Given the description of an element on the screen output the (x, y) to click on. 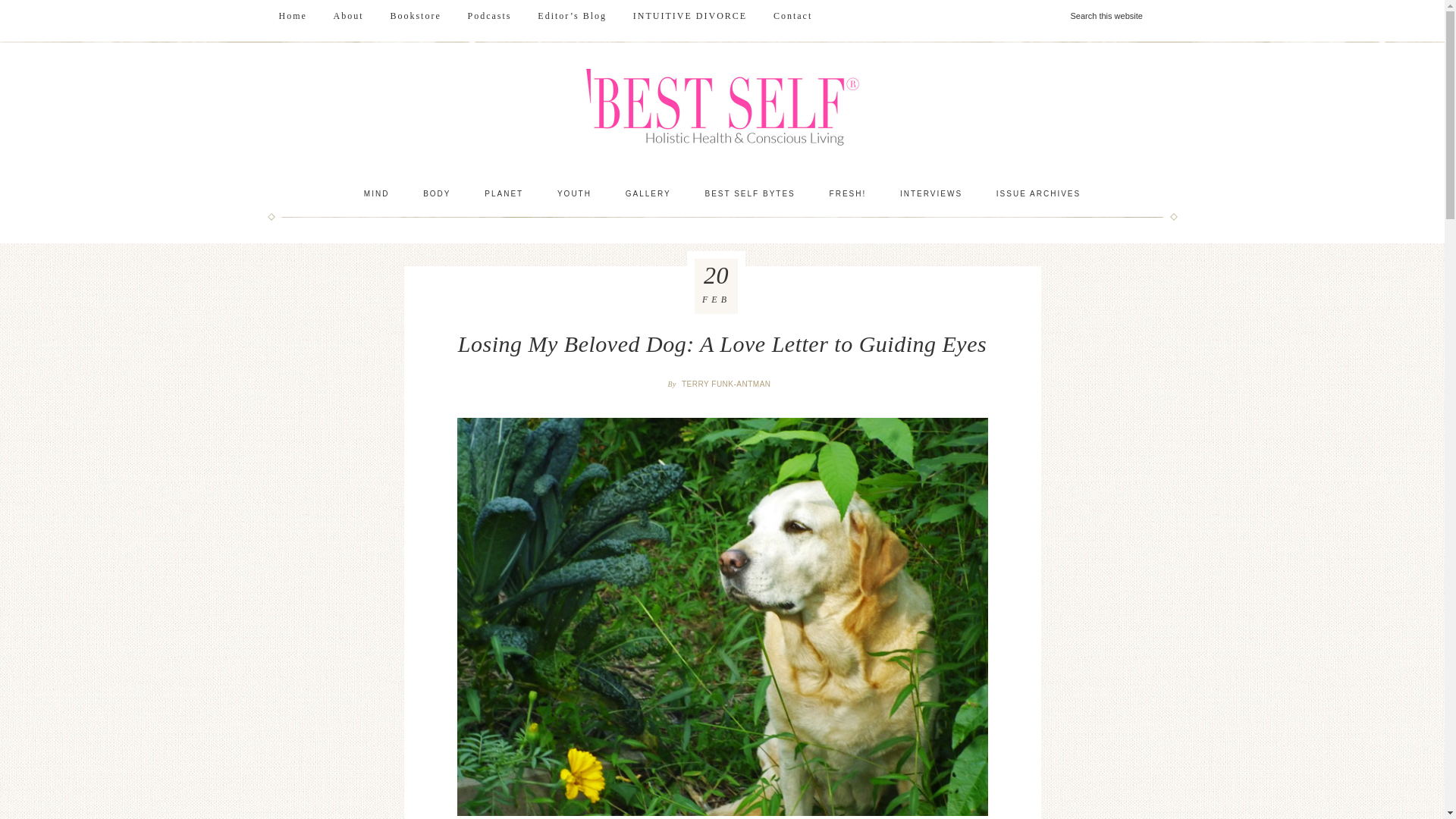
PLANET (503, 193)
Home (291, 15)
GALLERY (647, 193)
BEST SELF BYTES (748, 193)
YOUTH (574, 193)
Podcasts (489, 15)
Contact (792, 15)
BODY (436, 193)
BEST SELF (722, 108)
Bookstore (414, 15)
INTUITIVE DIVORCE (689, 15)
About (348, 15)
MIND (376, 193)
